Given the description of an element on the screen output the (x, y) to click on. 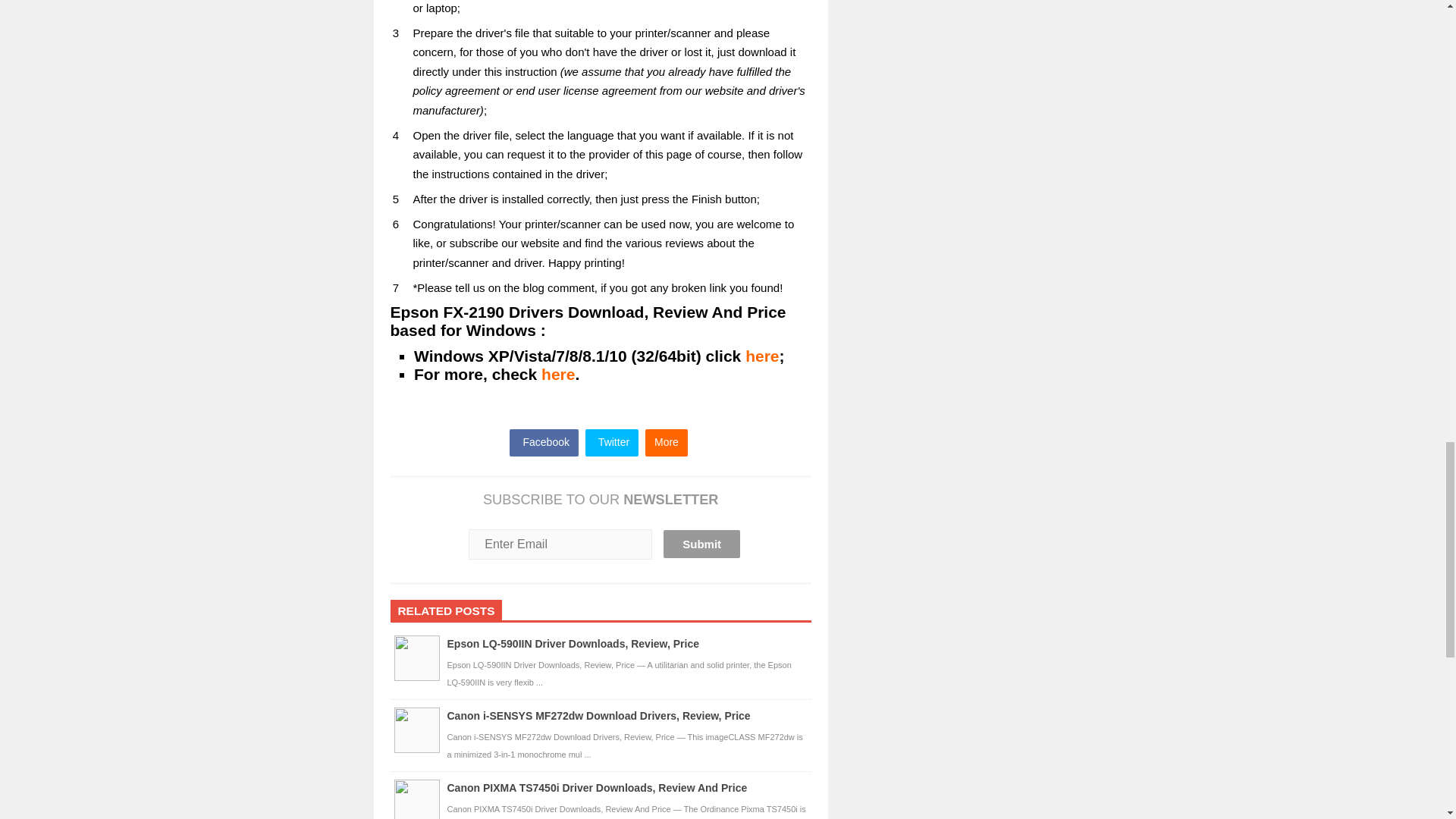
Epson LQ-590IIN Driver Downloads, Review, Price (572, 644)
Submit (701, 543)
Share to Twitter (612, 442)
here (558, 374)
Facebook (543, 442)
Twitter (612, 442)
Share to Facebook (543, 442)
Submit (701, 543)
here (761, 355)
